Given the description of an element on the screen output the (x, y) to click on. 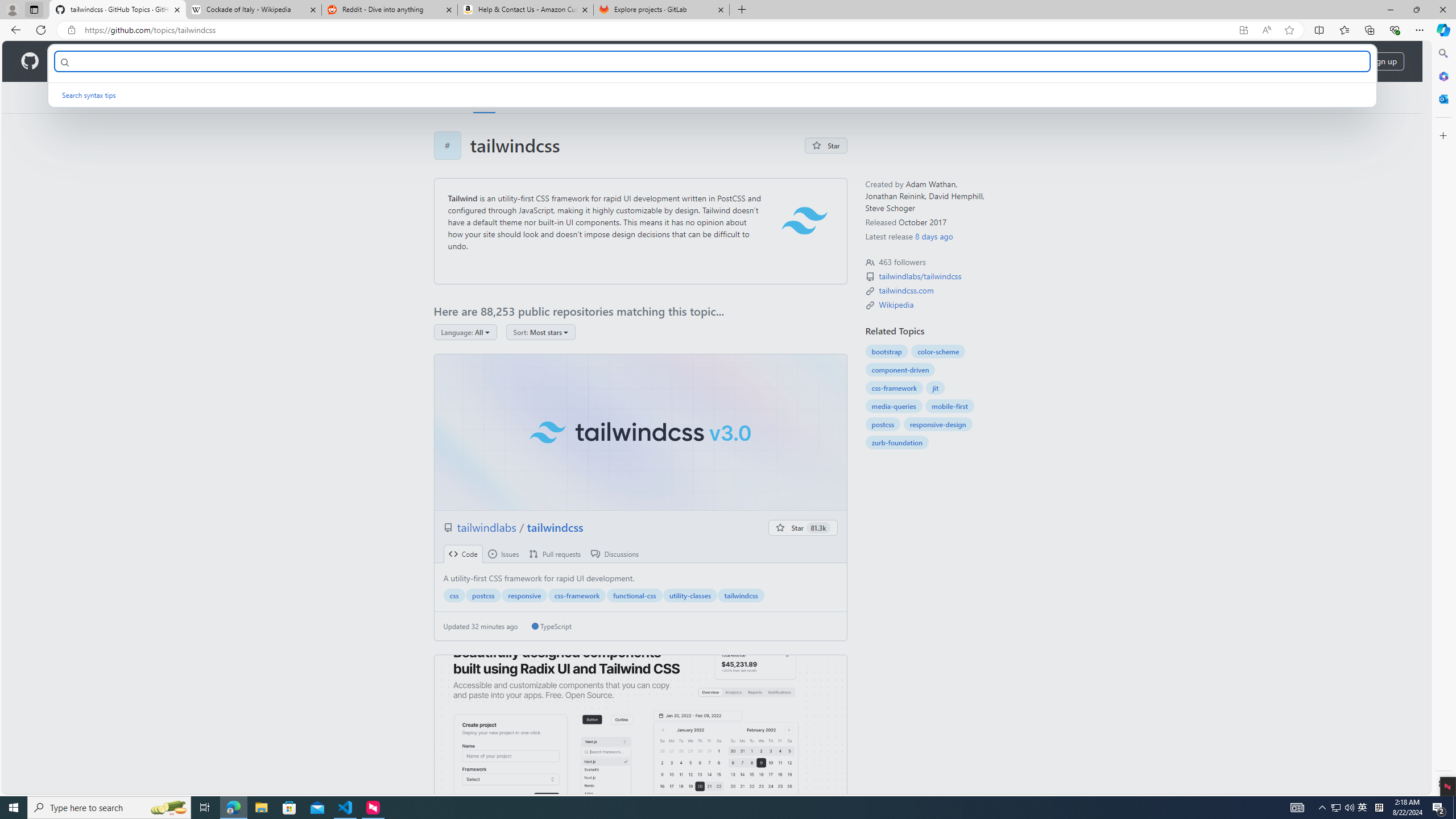
tailwindcss (640, 431)
Trending (524, 97)
Resources (187, 60)
zurb-foundation (896, 442)
 Code (462, 553)
functional-css (633, 594)
tailwindlabs/tailwindcss (920, 275)
tailwindcss.com (906, 290)
